Given the description of an element on the screen output the (x, y) to click on. 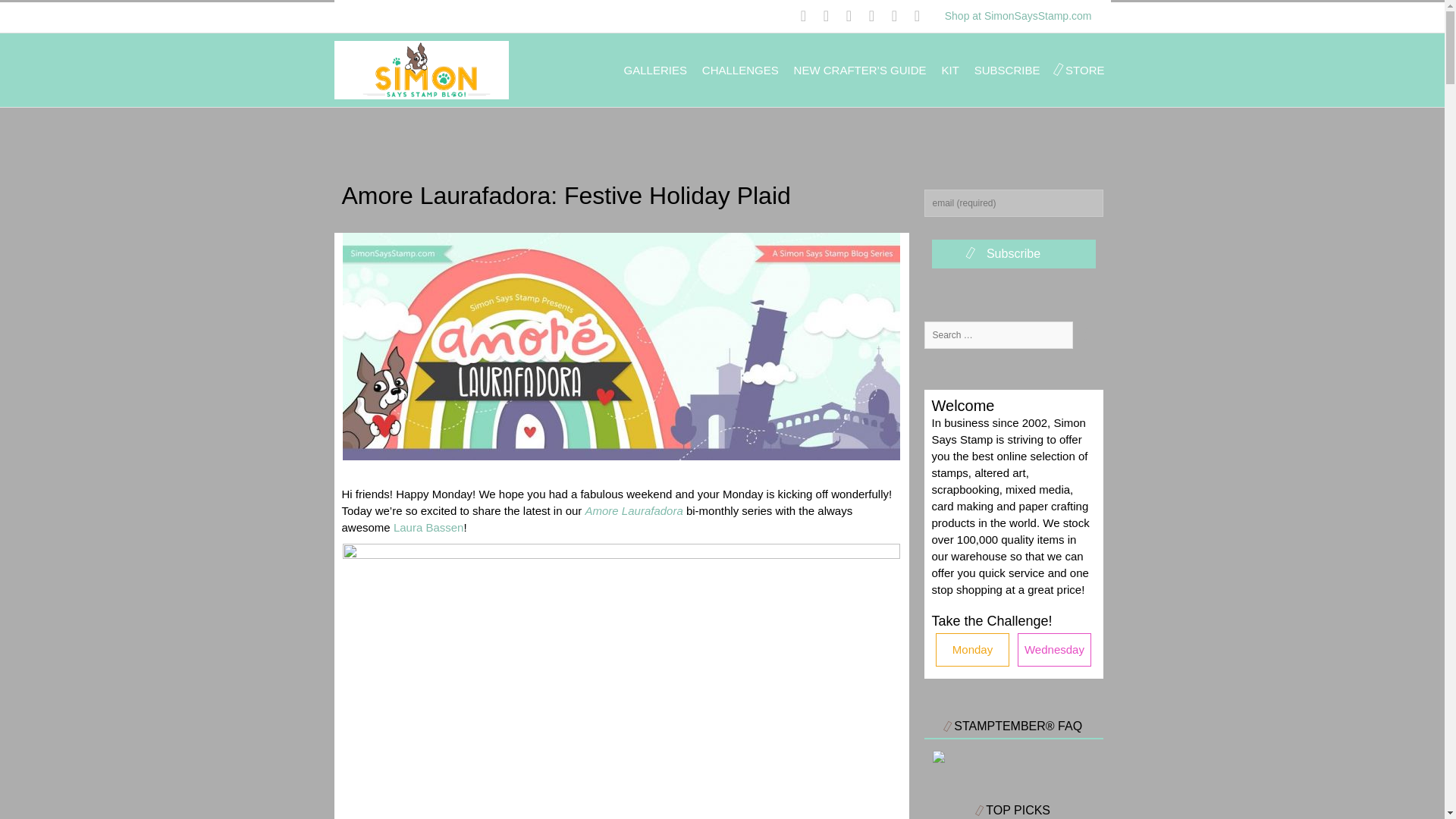
SUBSCRIBE (1007, 69)
Search (1086, 334)
Search (1086, 334)
GALLERIES (655, 69)
Laura Bassen (428, 526)
KIT (950, 69)
STORE (1084, 69)
CHALLENGES (739, 69)
Shop at SimonSaysStamp.com (1018, 15)
Subscribe (1012, 253)
